Given the description of an element on the screen output the (x, y) to click on. 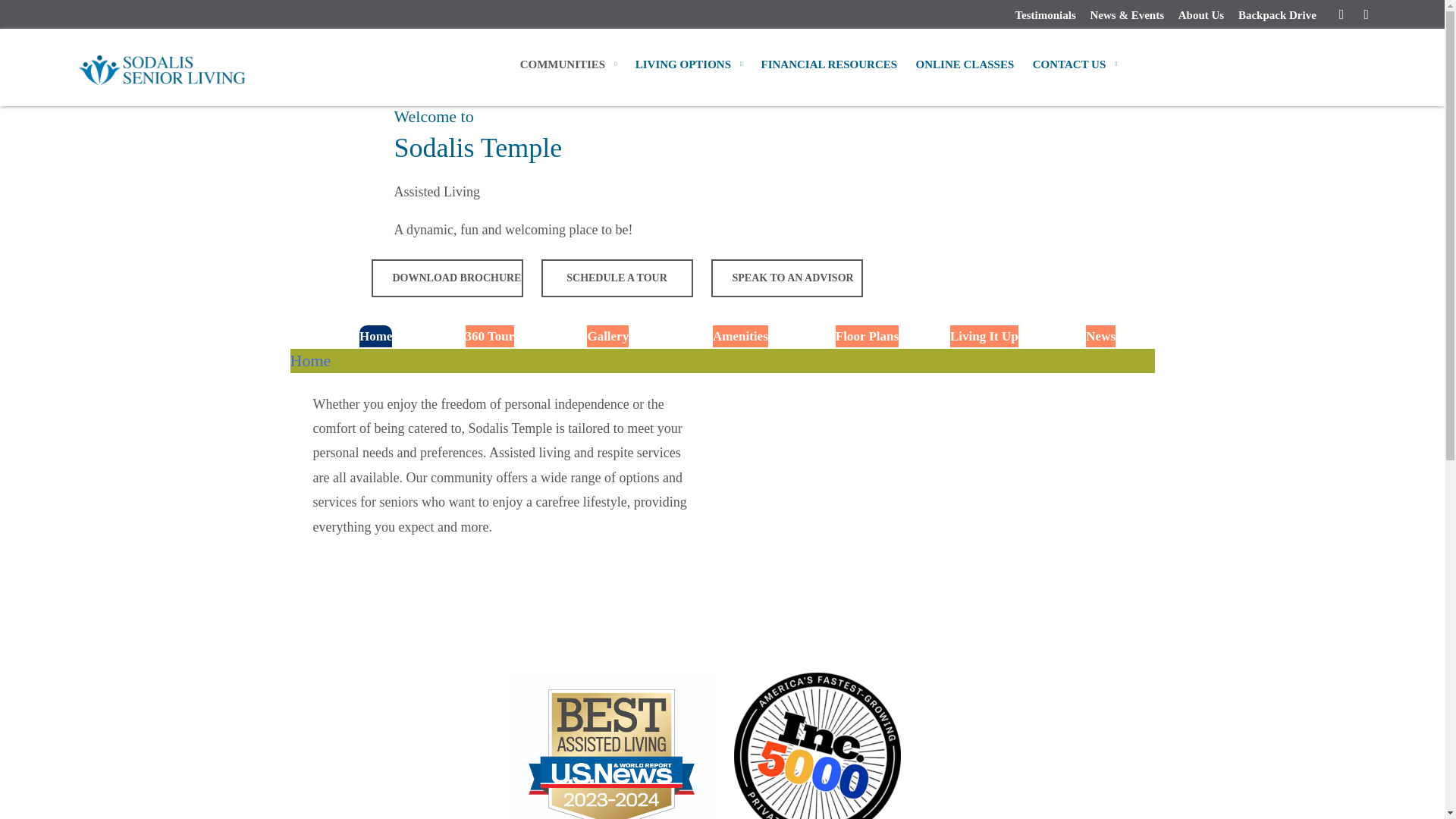
Backpack Drive (1277, 14)
COMMUNITIES (568, 67)
Testimonials (1044, 14)
About Us (1200, 14)
